Given the description of an element on the screen output the (x, y) to click on. 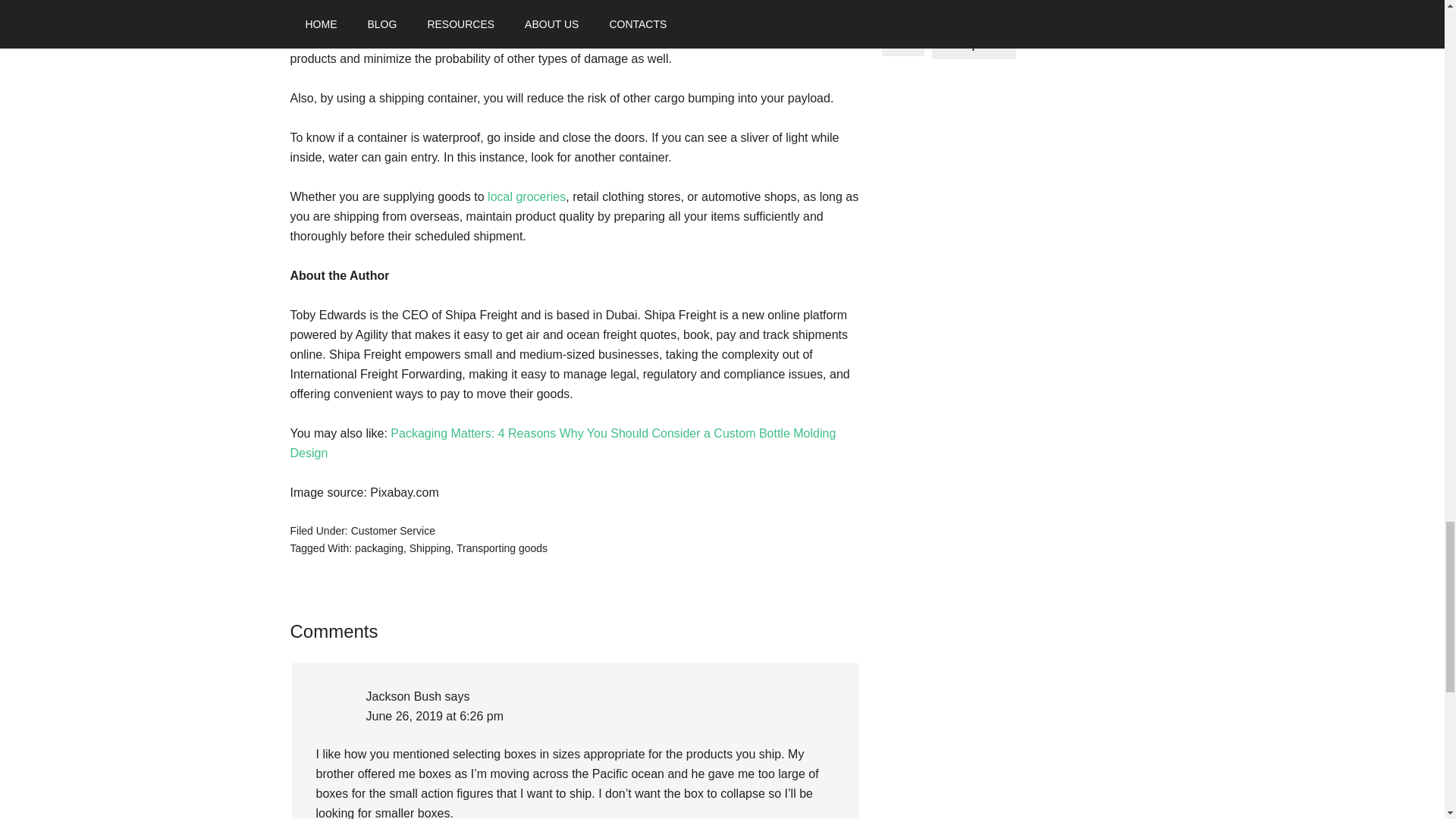
packaging (379, 548)
June 26, 2019 at 6:26 pm (433, 716)
local groceries (526, 196)
Shipping (430, 548)
Transporting goods (502, 548)
Customer Service (392, 530)
